Given the description of an element on the screen output the (x, y) to click on. 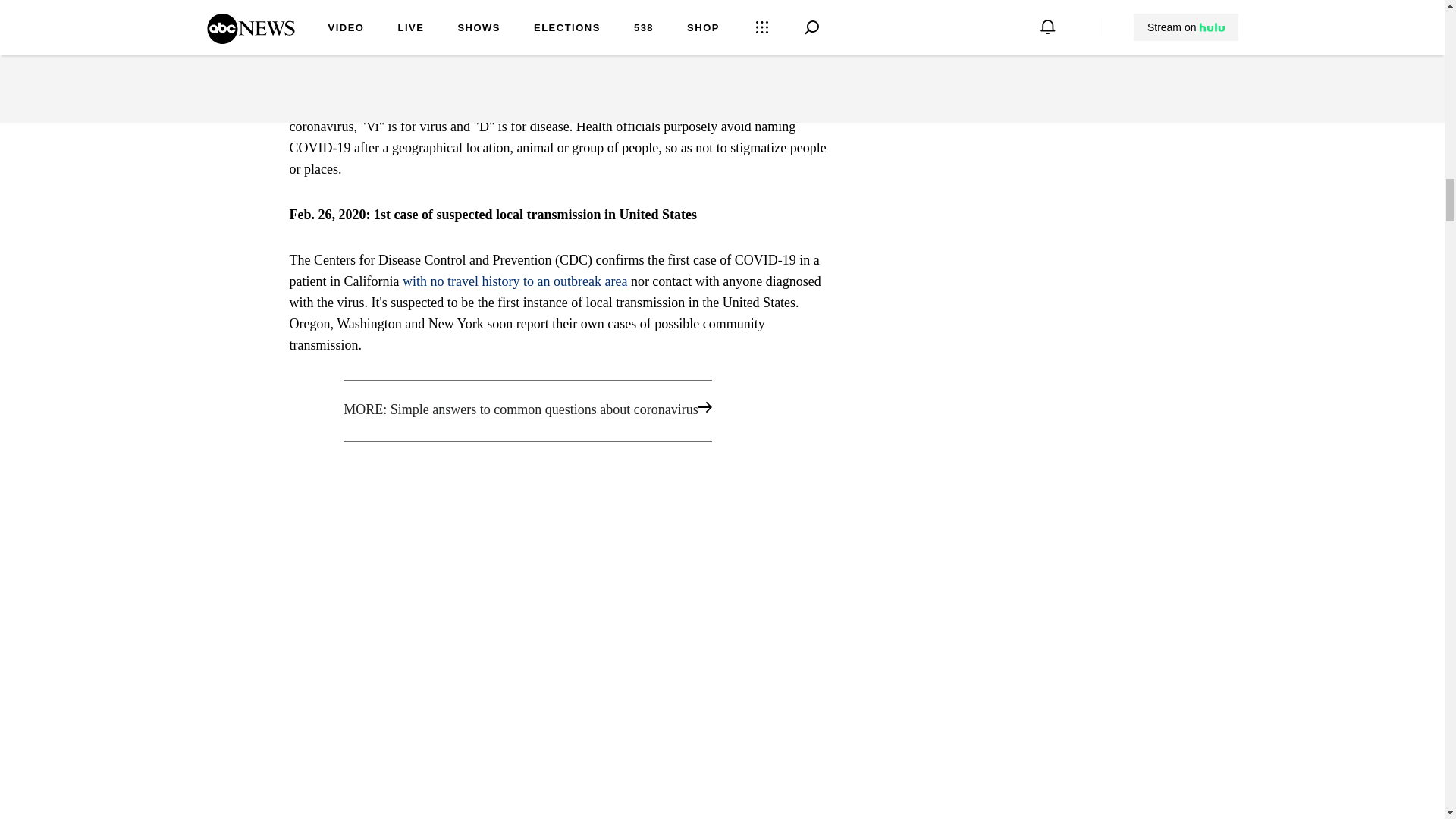
novel coronavirus' formal new name (532, 105)
Show more (801, 4)
with no travel history to an outbreak area (515, 281)
MORE: Simple answers to common questions about coronavirus (560, 411)
